Given the description of an element on the screen output the (x, y) to click on. 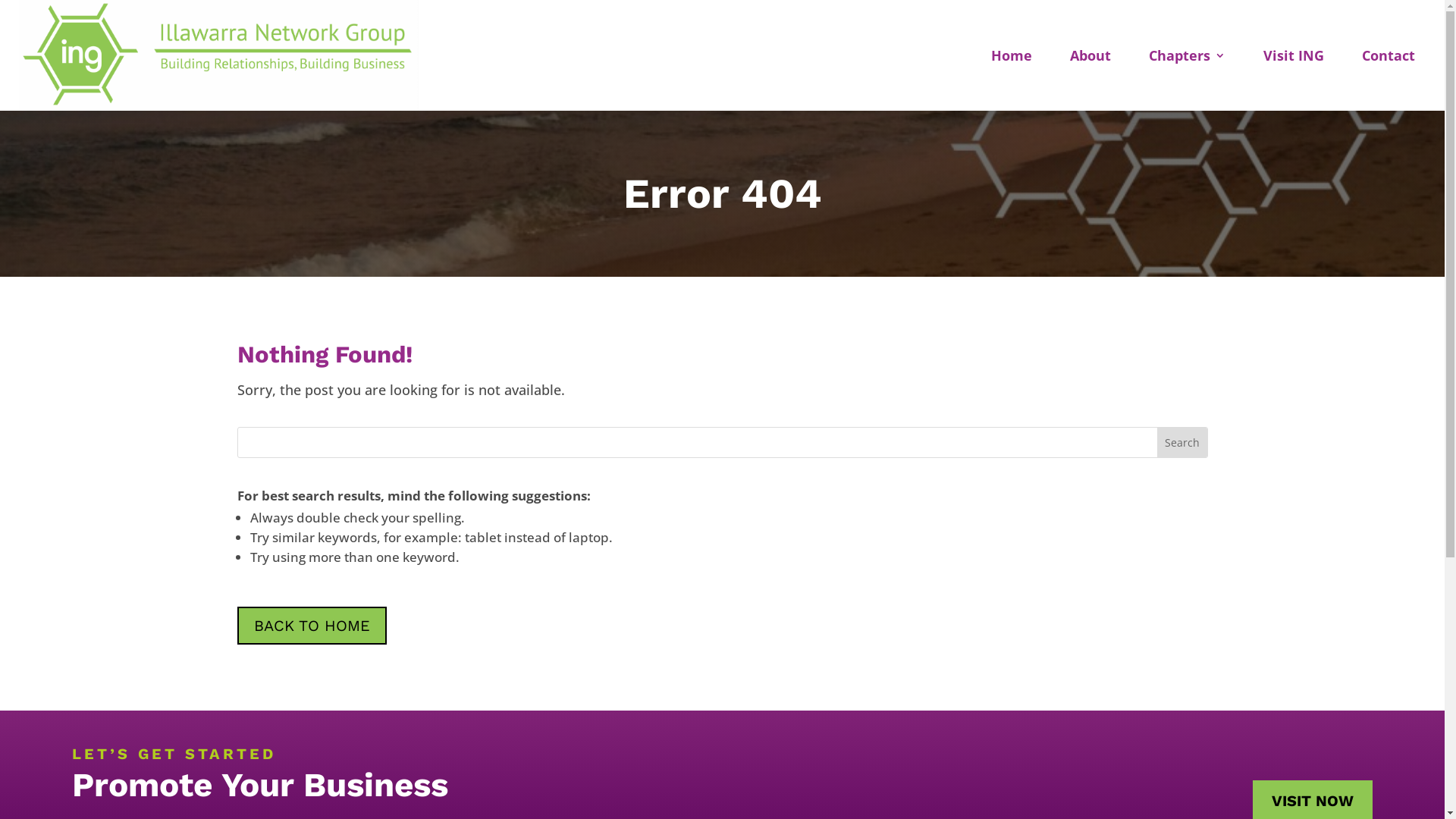
Contact Element type: text (1388, 55)
About Element type: text (1090, 55)
Home Element type: text (1011, 55)
Visit ING Element type: text (1293, 55)
Chapters Element type: text (1186, 55)
Search Element type: text (1182, 442)
BACK TO HOME Element type: text (310, 625)
